Given the description of an element on the screen output the (x, y) to click on. 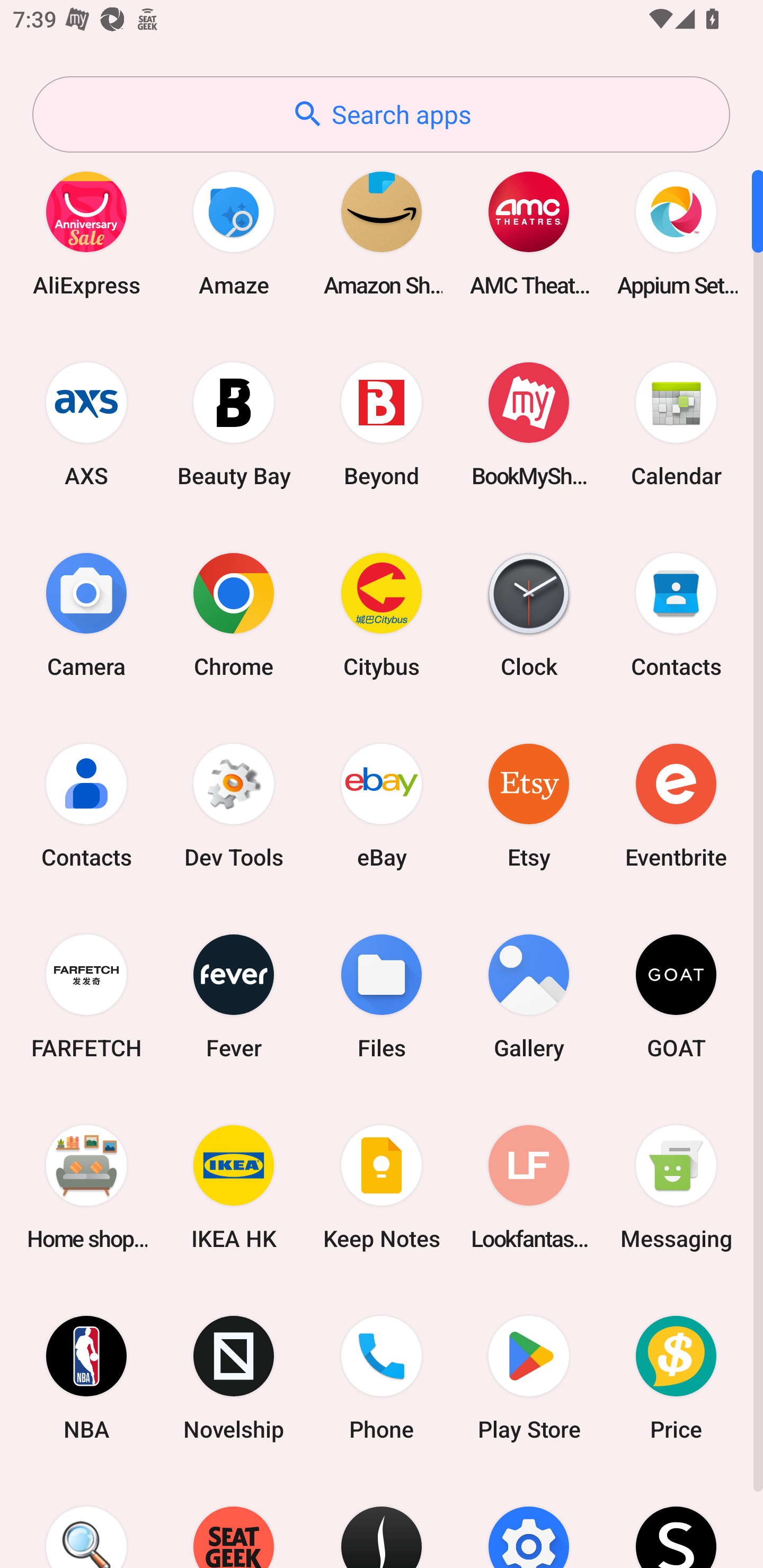
  Search apps (381, 114)
AliExpress (86, 233)
Amaze (233, 233)
Amazon Shopping (381, 233)
AMC Theatres (528, 233)
Appium Settings (676, 233)
AXS (86, 424)
Beauty Bay (233, 424)
Beyond (381, 424)
BookMyShow (528, 424)
Calendar (676, 424)
Camera (86, 614)
Chrome (233, 614)
Citybus (381, 614)
Clock (528, 614)
Contacts (676, 614)
Contacts (86, 805)
Dev Tools (233, 805)
eBay (381, 805)
Etsy (528, 805)
Eventbrite (676, 805)
FARFETCH (86, 996)
Fever (233, 996)
Files (381, 996)
Gallery (528, 996)
GOAT (676, 996)
Home shopping (86, 1186)
IKEA HK (233, 1186)
Keep Notes (381, 1186)
Lookfantastic (528, 1186)
Messaging (676, 1186)
NBA (86, 1377)
Novelship (233, 1377)
Phone (381, 1377)
Play Store (528, 1377)
Price (676, 1377)
